Given the description of an element on the screen output the (x, y) to click on. 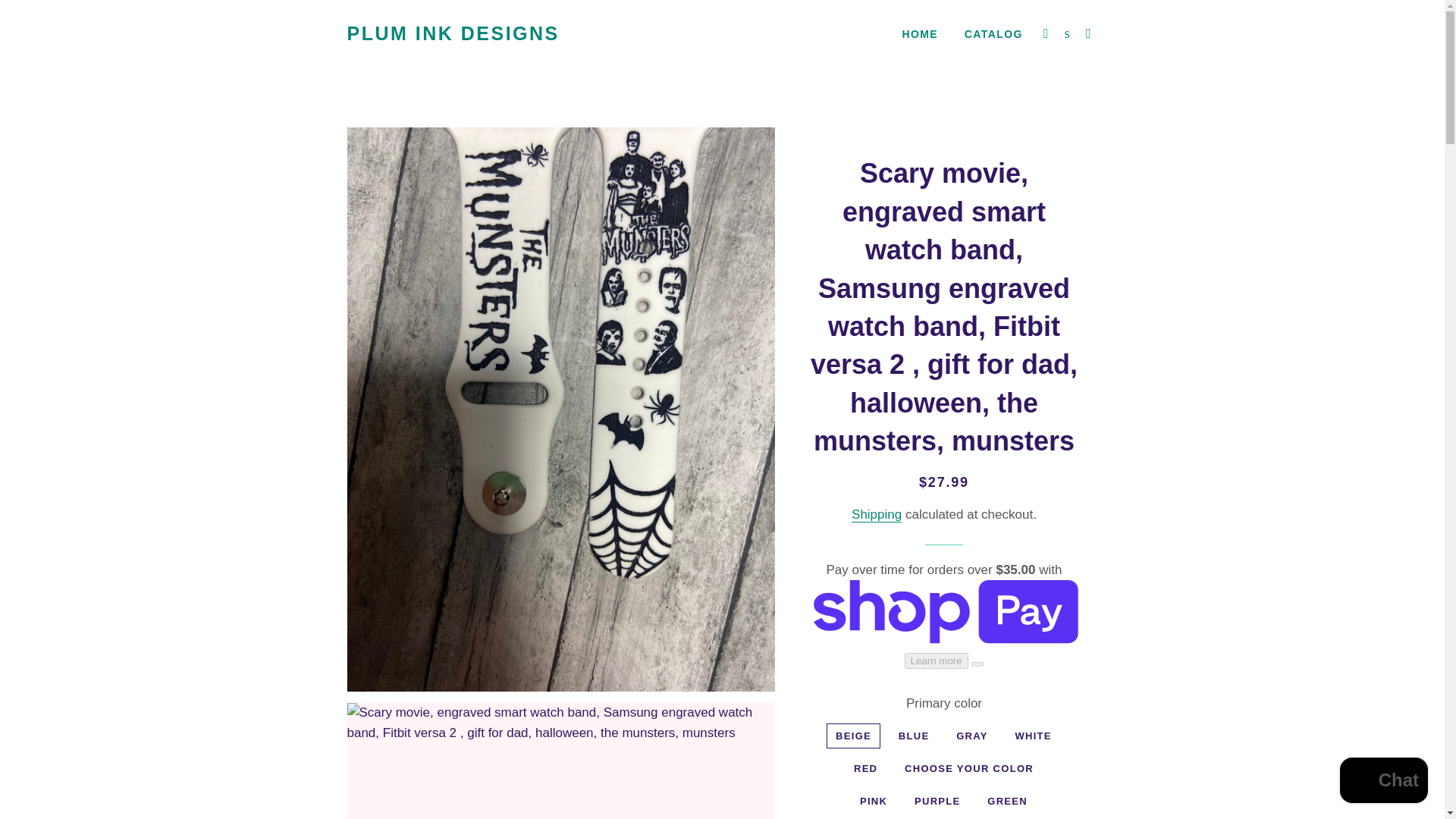
CATALOG (993, 34)
HOME (919, 34)
Shopify online store chat (1383, 781)
Shipping (876, 514)
